Given the description of an element on the screen output the (x, y) to click on. 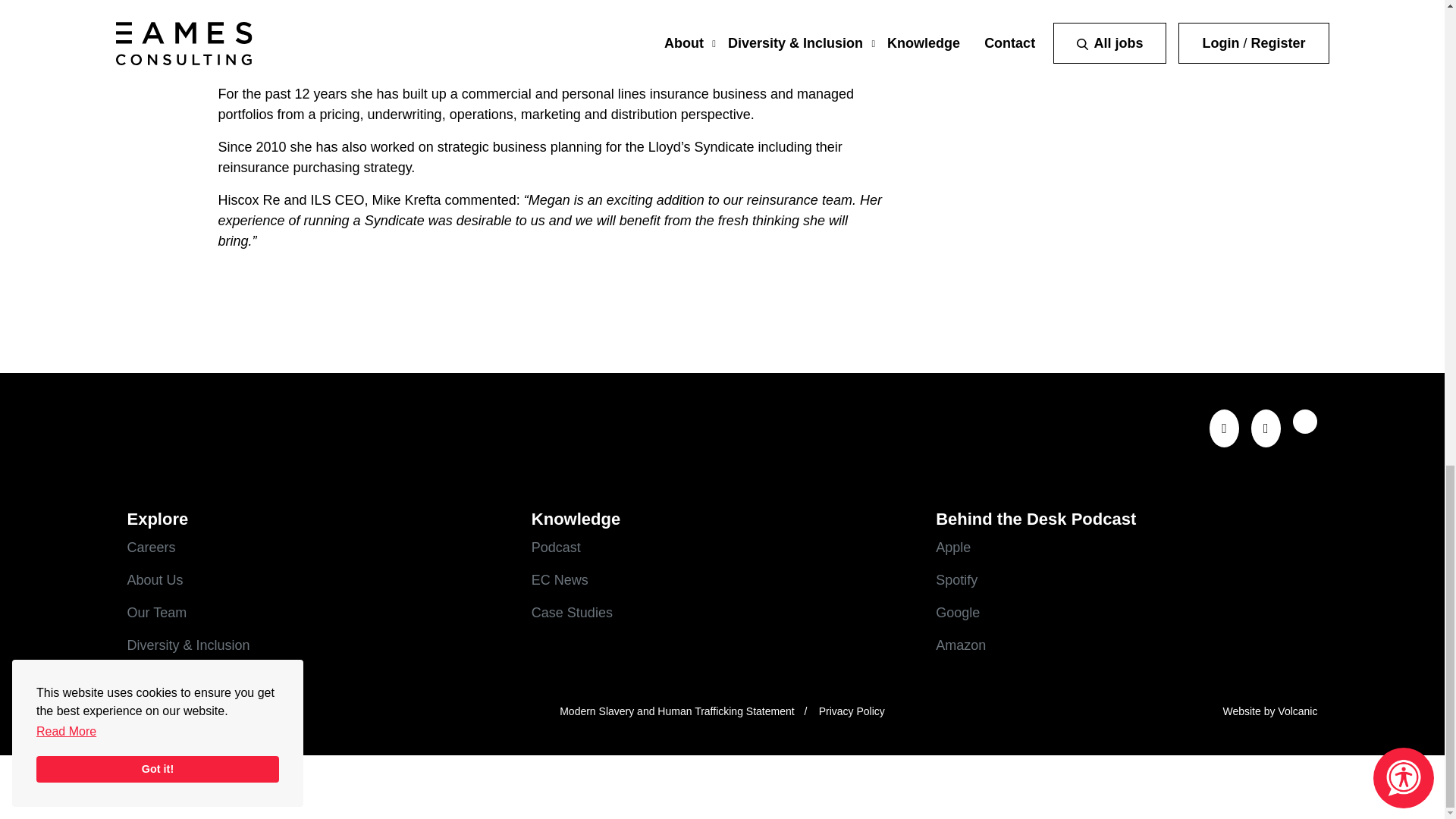
About Us (318, 580)
Podcast (721, 547)
Case Studies (721, 612)
EC News (721, 580)
Our Team (318, 612)
Careers (318, 547)
